Given the description of an element on the screen output the (x, y) to click on. 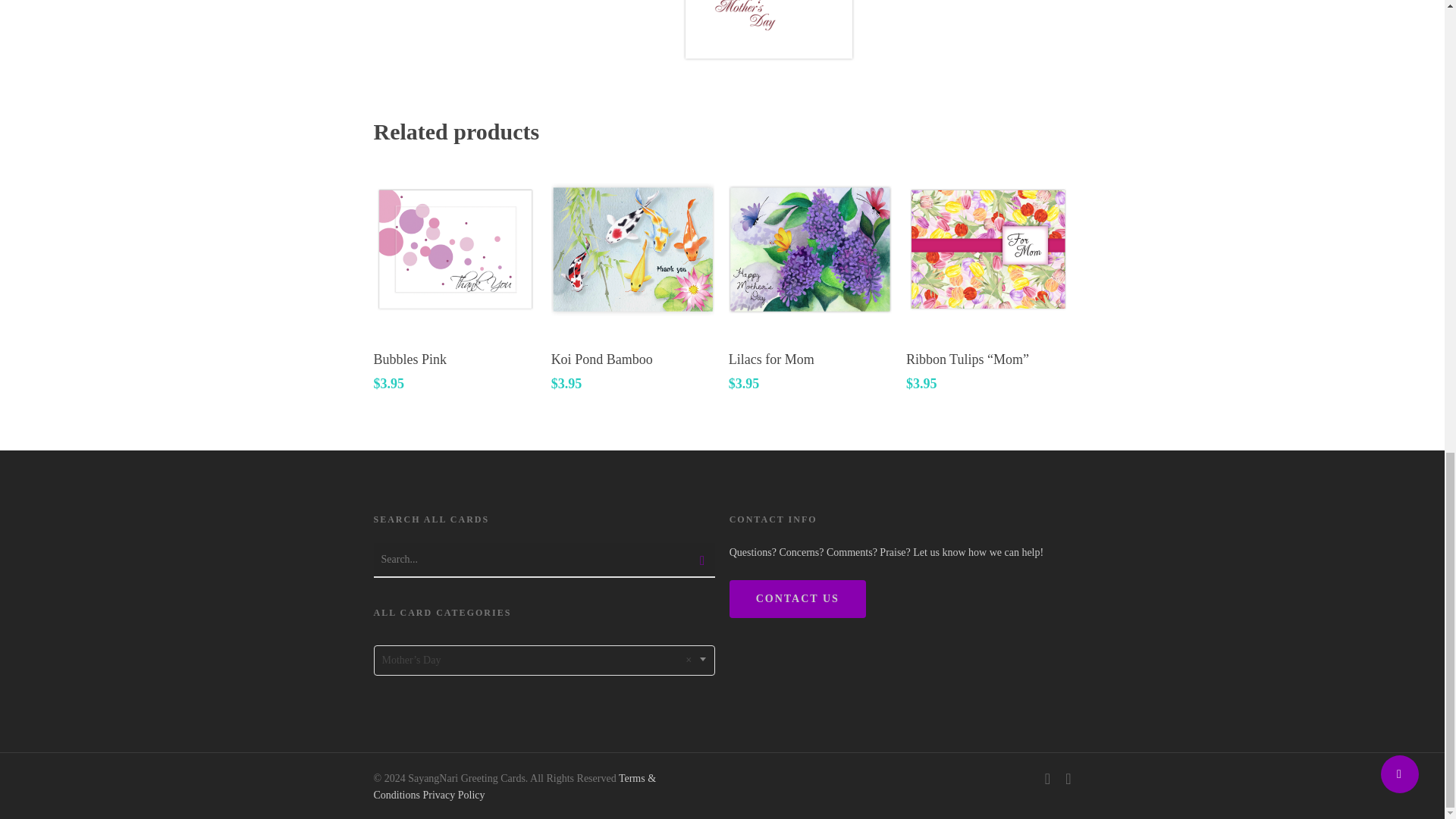
Search for: (543, 560)
